Given the description of an element on the screen output the (x, y) to click on. 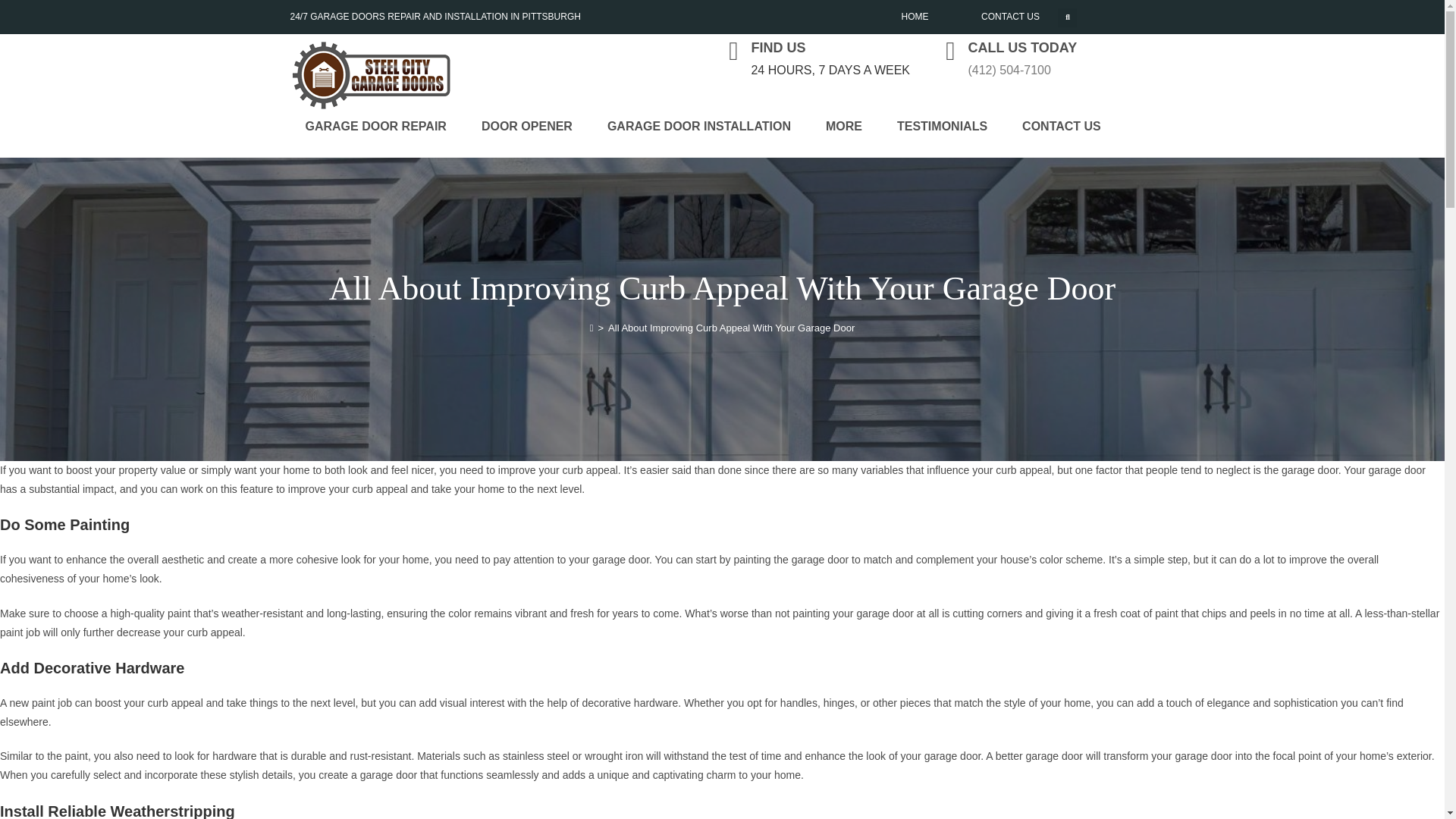
MORE (843, 216)
CONTACT US (1010, 16)
CONTACT US (1061, 216)
GARAGE DOOR INSTALLATION (699, 216)
HOME (914, 16)
FIND US (778, 47)
DOOR OPENER (526, 216)
GARAGE DOOR REPAIR (375, 216)
24 HOURS, 7 DAYS A WEEK (830, 69)
CALL US TODAY (1022, 47)
